Given the description of an element on the screen output the (x, y) to click on. 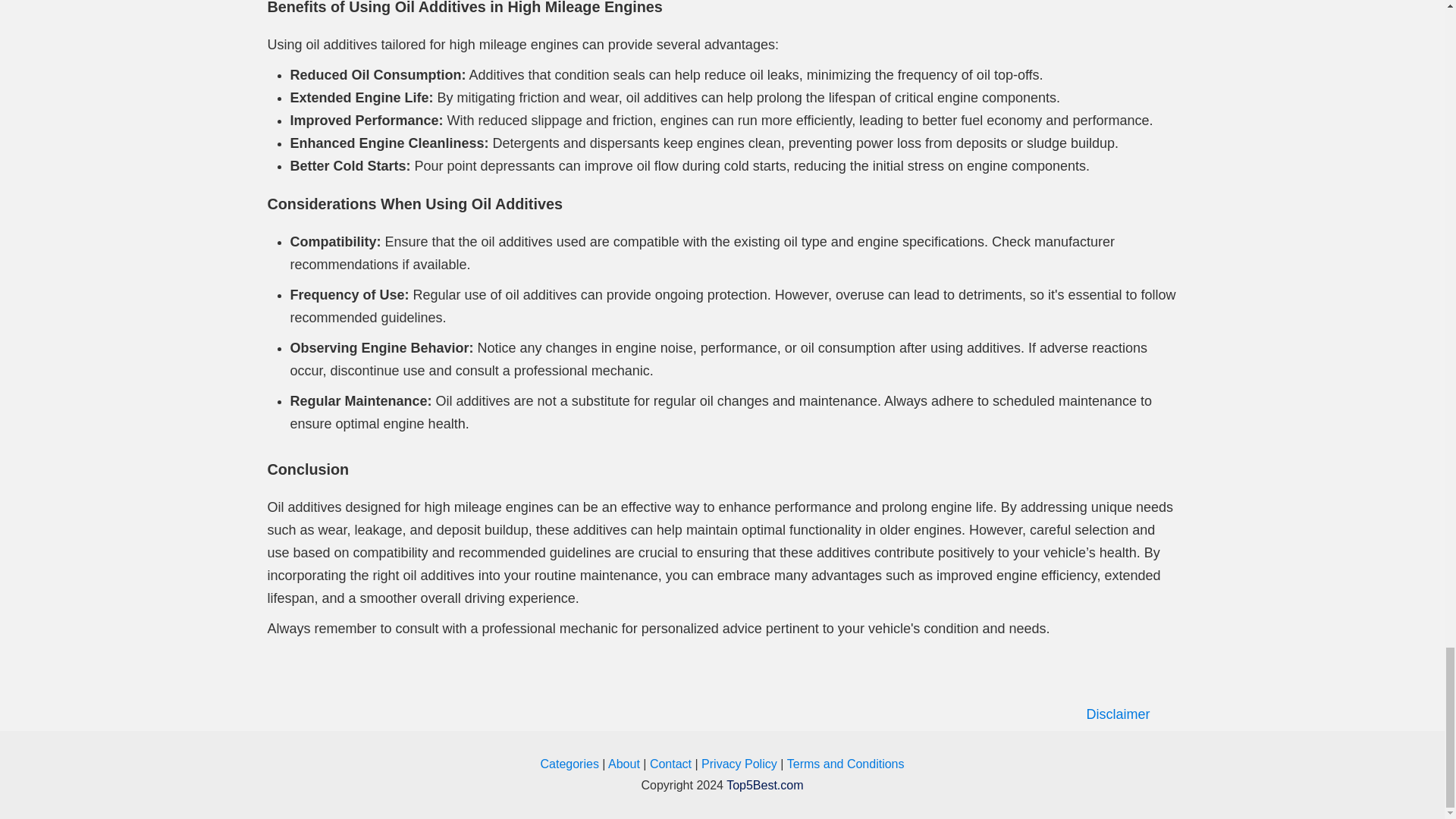
Terms and Conditions (845, 763)
Privacy Policy (739, 763)
About (624, 763)
Disclaimer (722, 713)
Categories (571, 763)
Contact (670, 763)
